Given the description of an element on the screen output the (x, y) to click on. 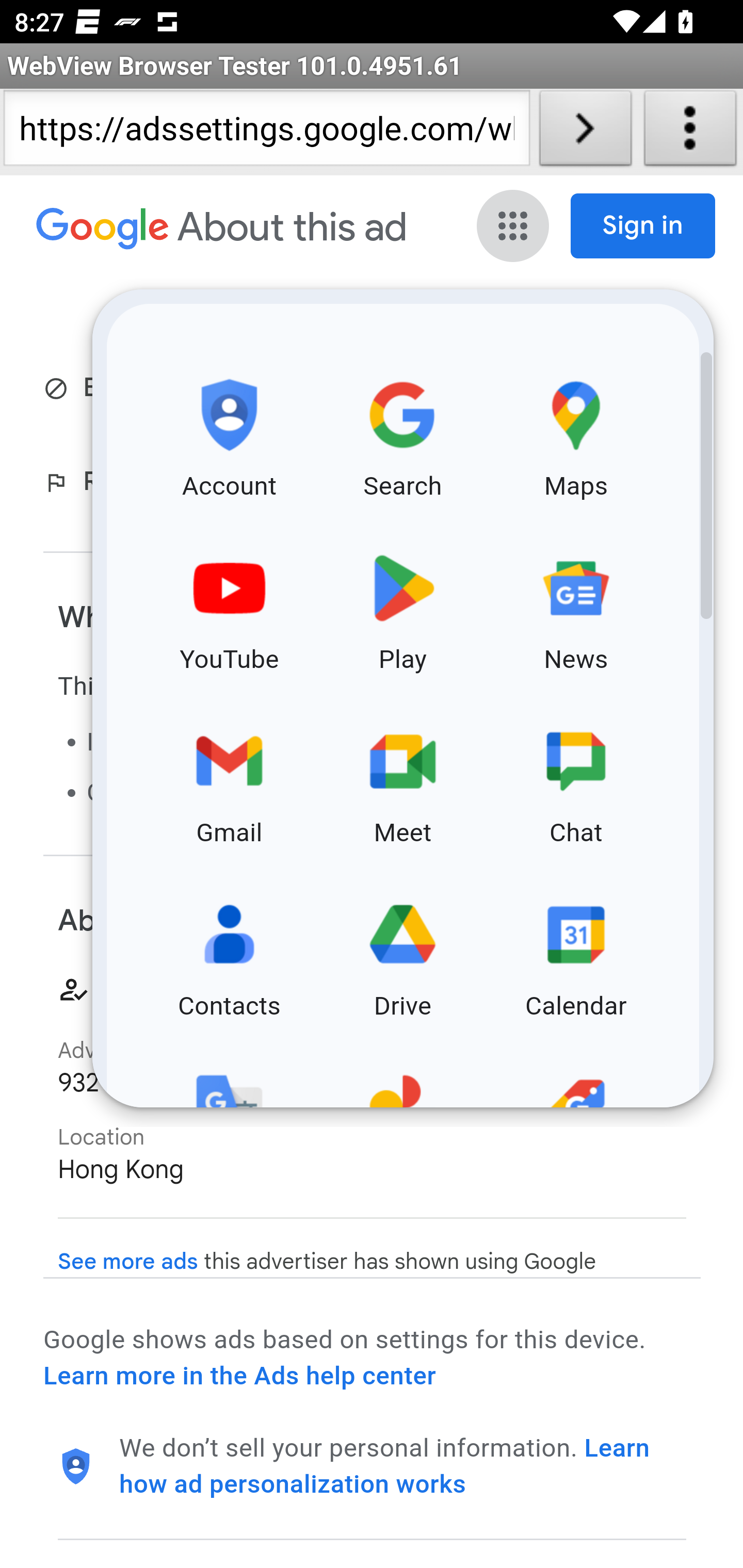
https://adssettings.google.com/whythisad (266, 132)
Load URL (585, 132)
About WebView (690, 132)
Google apps (513, 226)
Sign in (643, 226)
See more ads (opens in new tab) See more ads (127, 1262)
Learn more in the Ads help center (239, 1375)
Learn how ad personalization works (384, 1465)
